Given the description of an element on the screen output the (x, y) to click on. 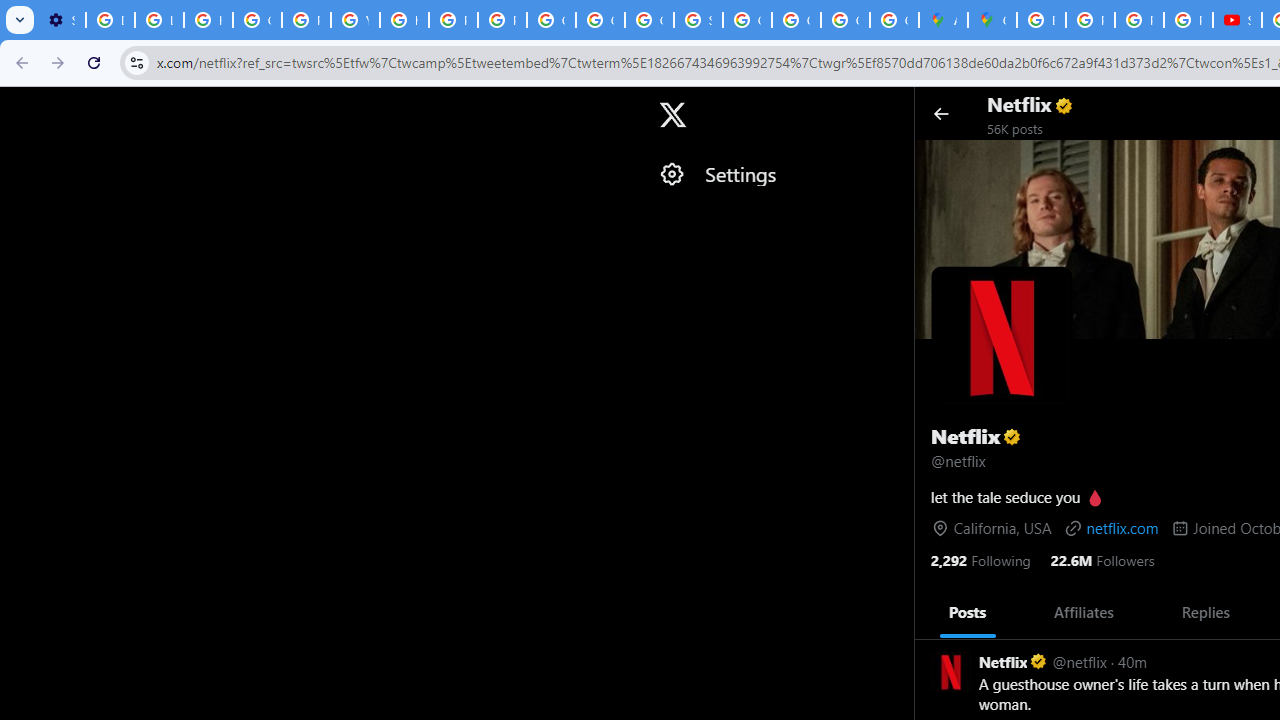
Subscriptions - YouTube (1237, 20)
@netflix (1079, 660)
Previous (936, 612)
Verified account (1039, 661)
Affiliates (1084, 611)
netflix.com (1110, 527)
Learn how to find your photos - Google Photos Help (159, 20)
Privacy Help Center - Policies Help (452, 20)
Netflix Verified account (1014, 660)
Privacy Help Center - Policies Help (1138, 20)
X (672, 115)
